Given the description of an element on the screen output the (x, y) to click on. 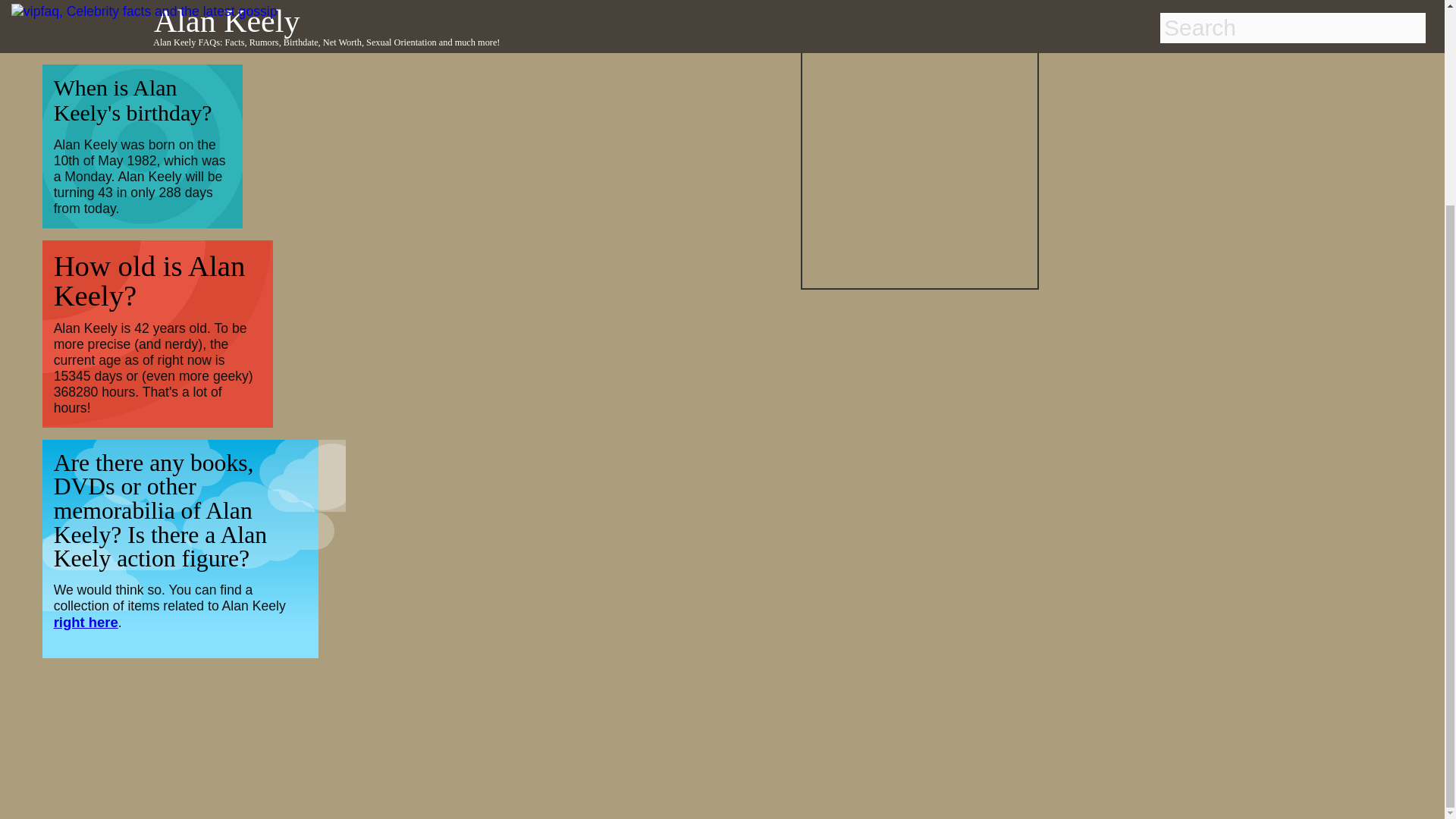
right here (85, 621)
